Given the description of an element on the screen output the (x, y) to click on. 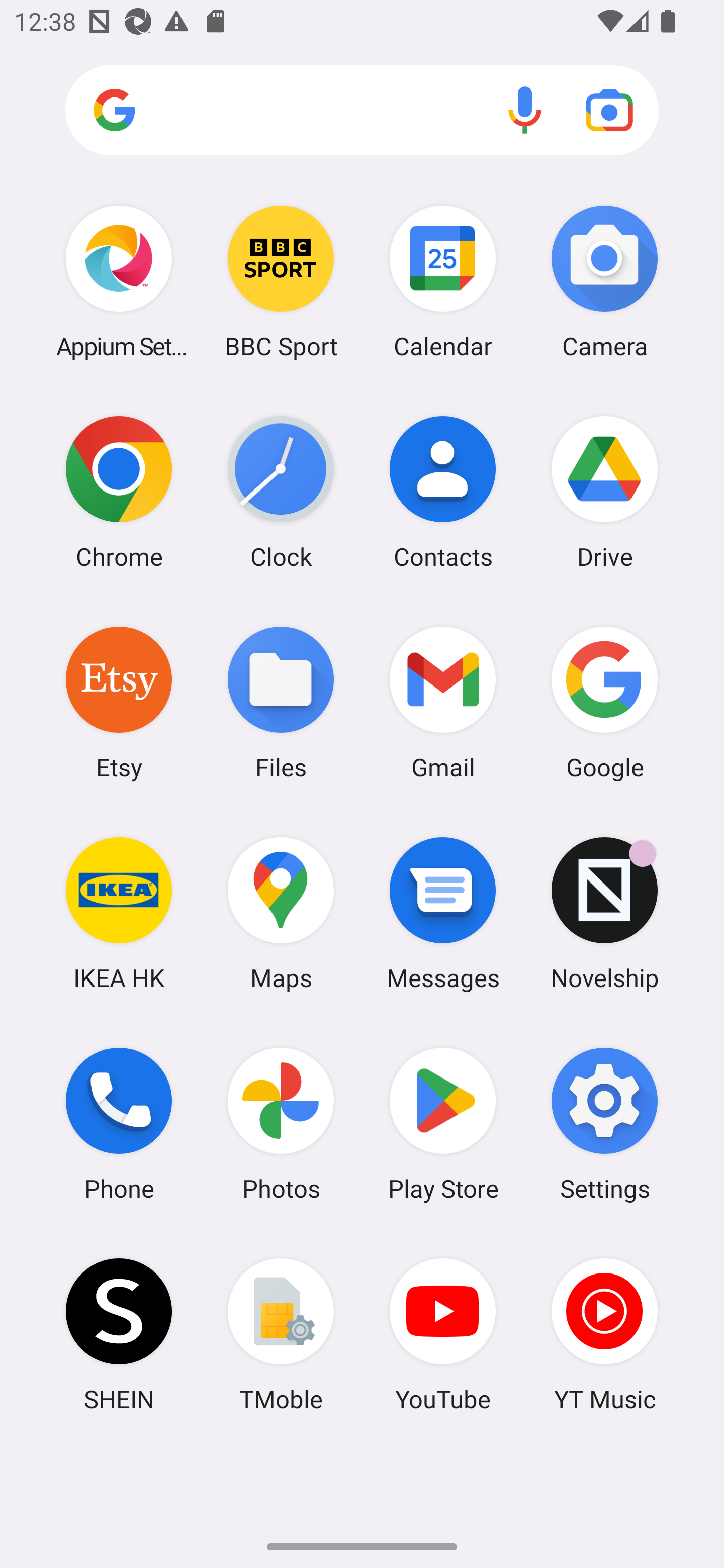
Search apps, web and more (361, 110)
Voice search (524, 109)
Google Lens (608, 109)
Appium Settings (118, 281)
BBC Sport (280, 281)
Calendar (443, 281)
Camera (604, 281)
Chrome (118, 492)
Clock (280, 492)
Contacts (443, 492)
Drive (604, 492)
Etsy (118, 702)
Files (280, 702)
Gmail (443, 702)
Google (604, 702)
IKEA HK (118, 913)
Maps (280, 913)
Messages (443, 913)
Novelship Novelship has 7 notifications (604, 913)
Phone (118, 1124)
Photos (280, 1124)
Play Store (443, 1124)
Settings (604, 1124)
SHEIN (118, 1334)
TMoble (280, 1334)
YouTube (443, 1334)
YT Music (604, 1334)
